Given the description of an element on the screen output the (x, y) to click on. 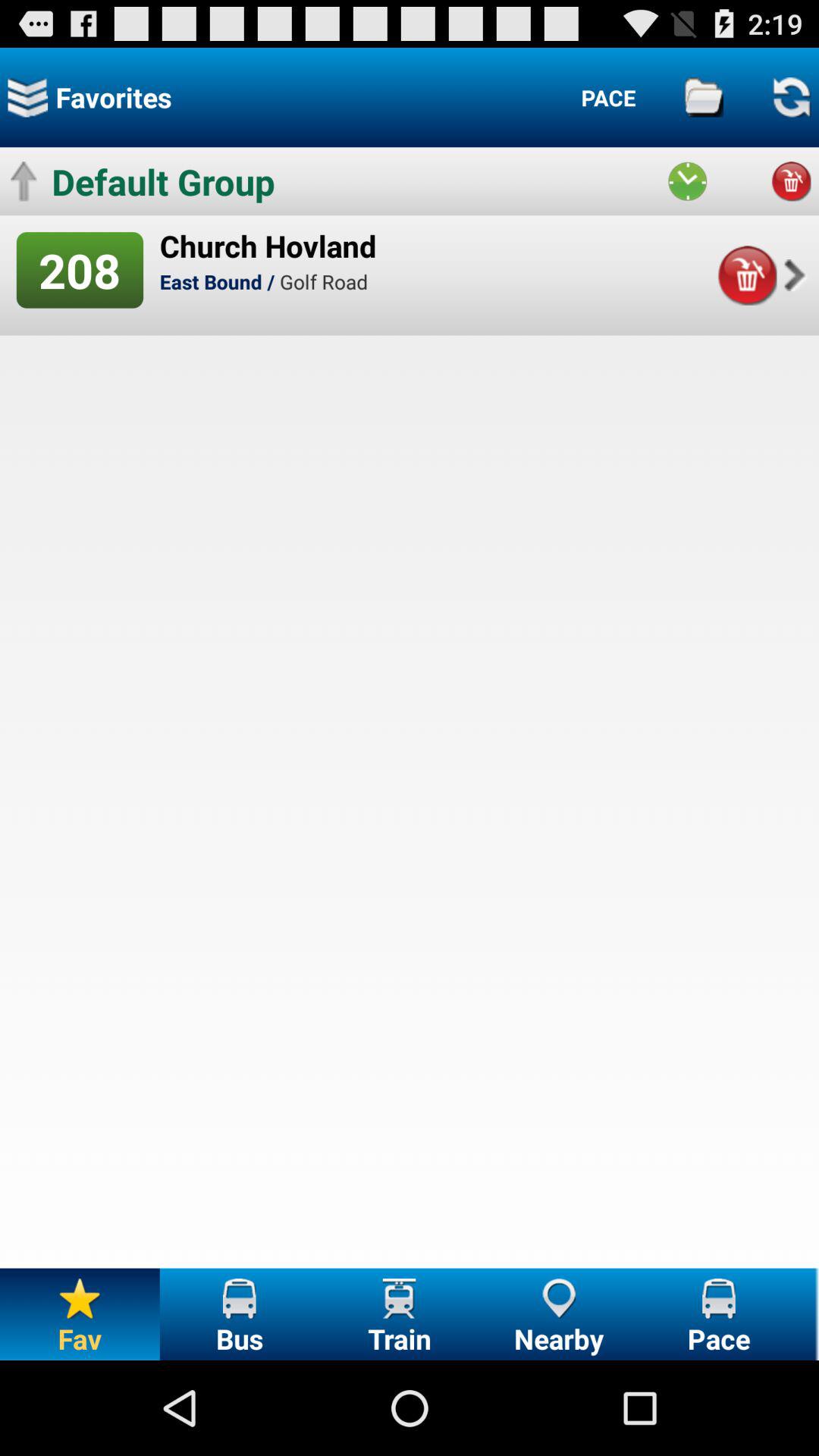
show favorite (27, 97)
